Given the description of an element on the screen output the (x, y) to click on. 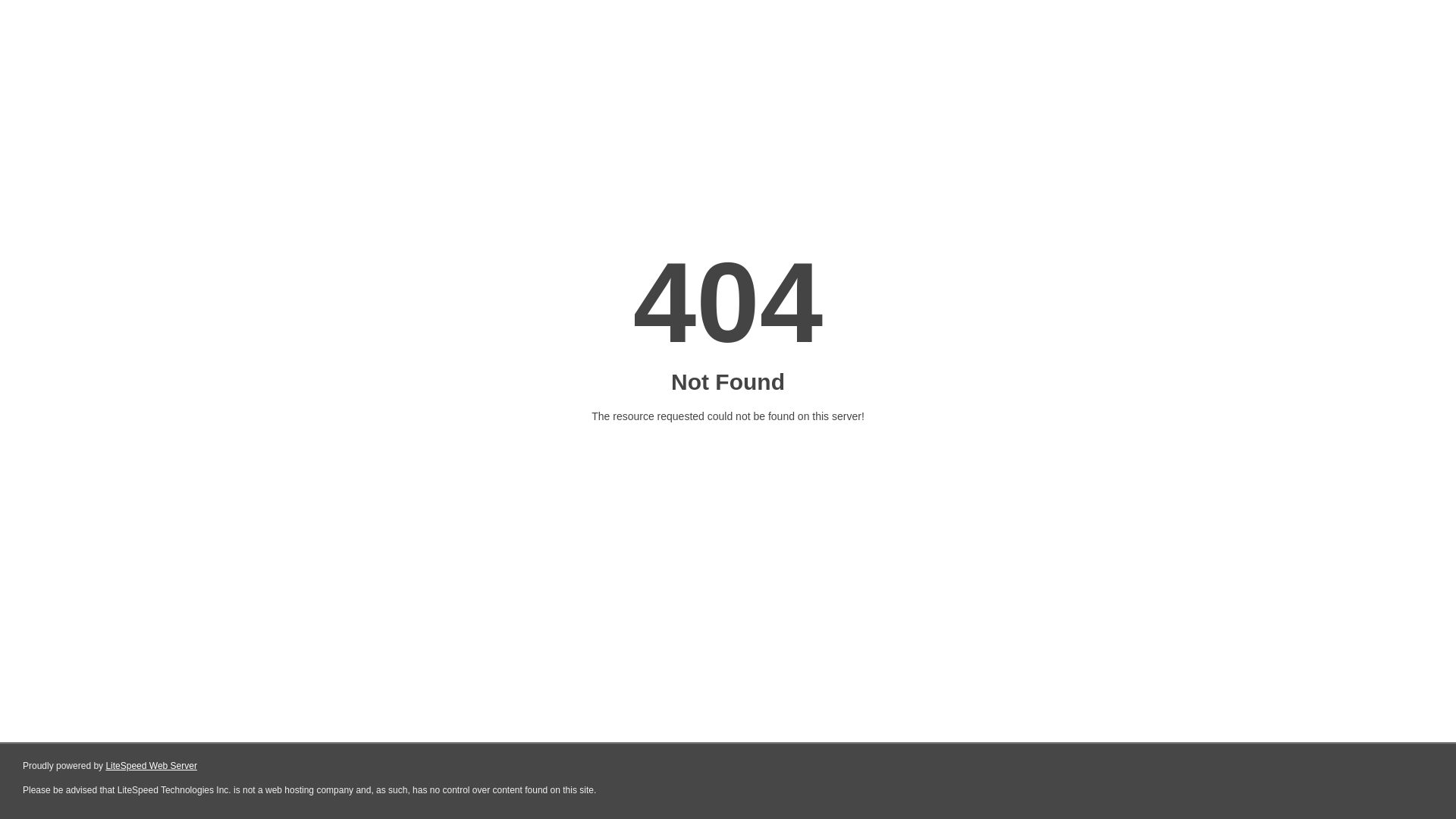
LiteSpeed Web Server Element type: text (151, 765)
